Given the description of an element on the screen output the (x, y) to click on. 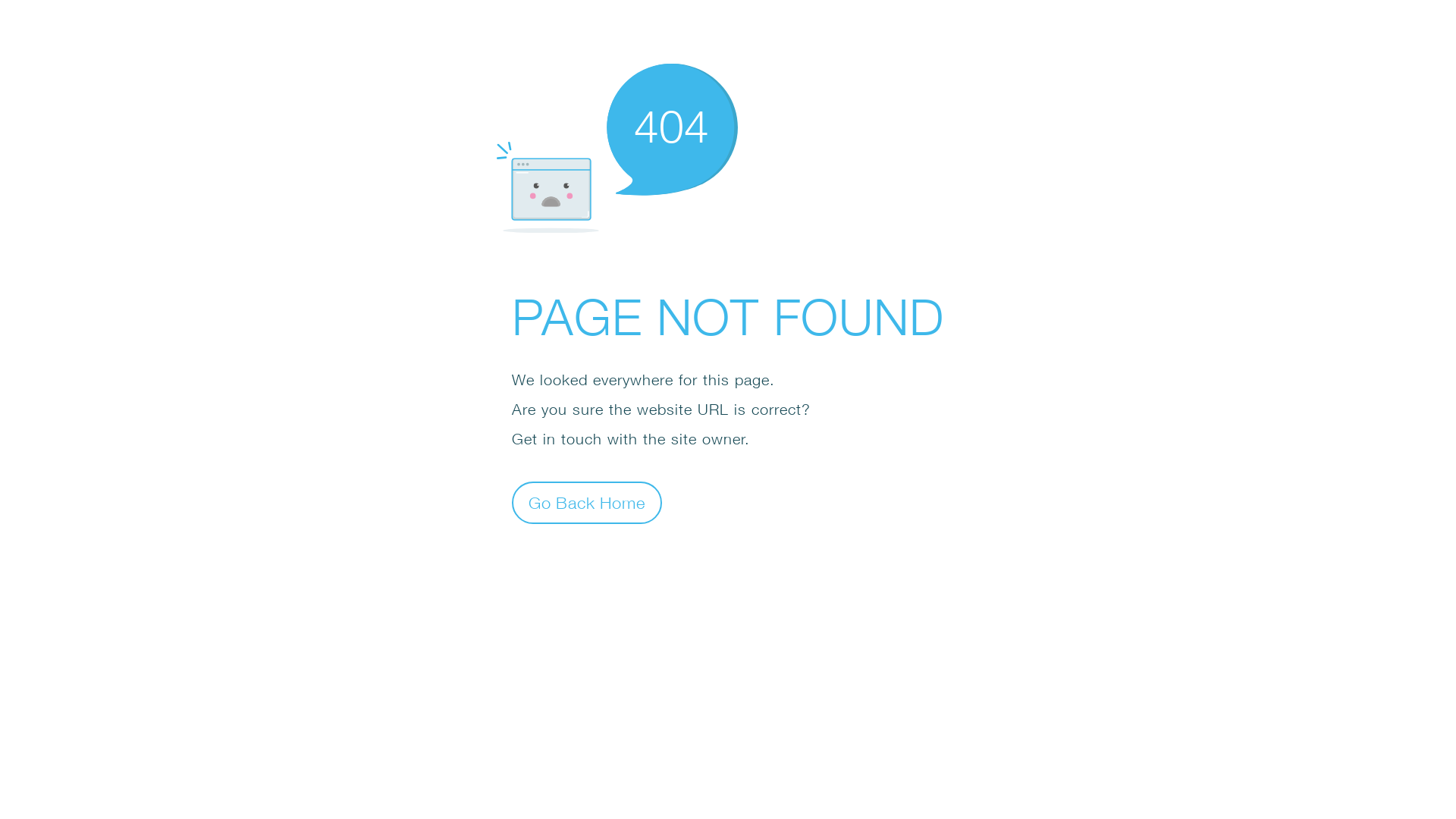
Go Back Home Element type: text (586, 502)
